Given the description of an element on the screen output the (x, y) to click on. 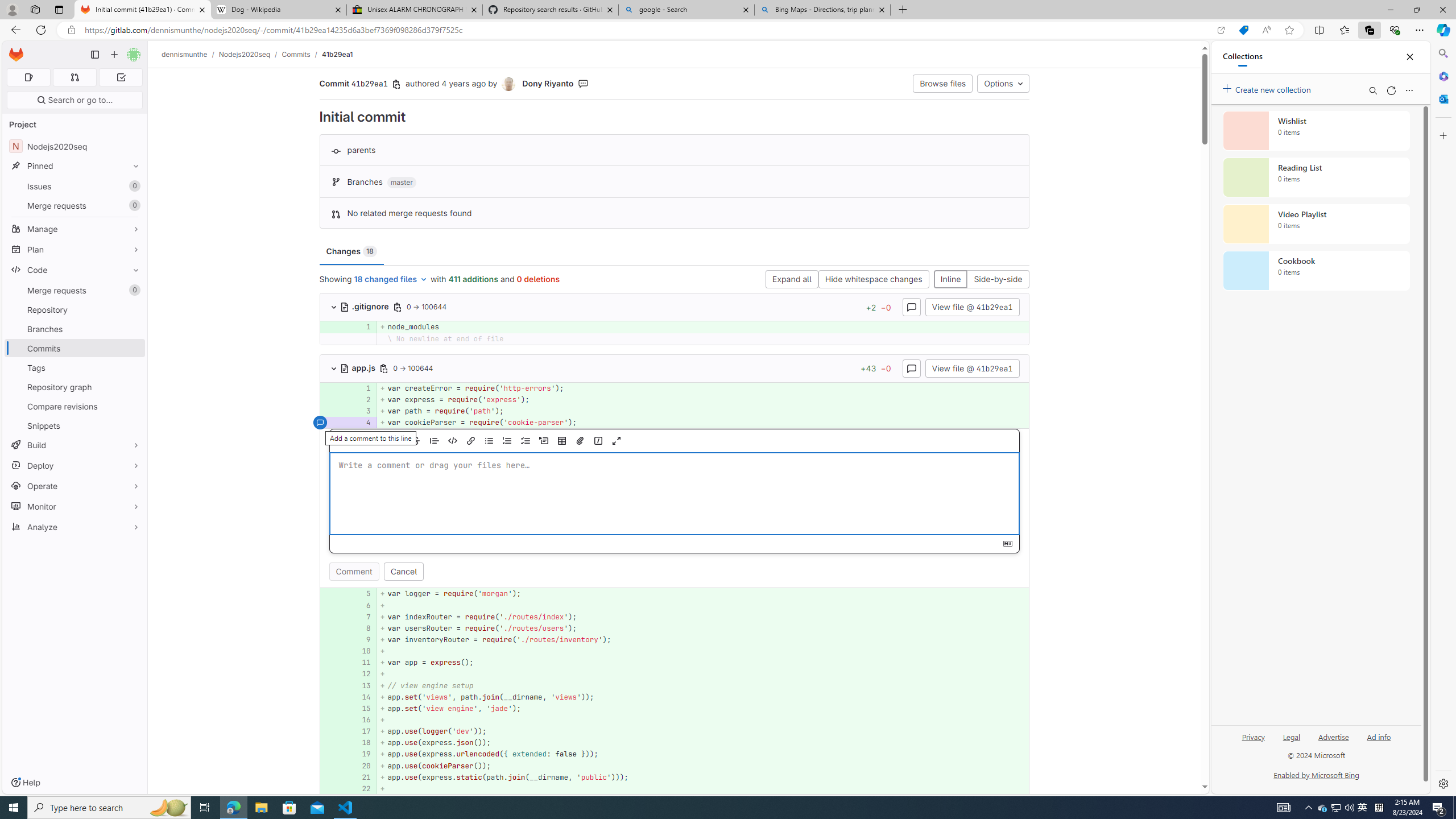
18 changed files (390, 279)
Issues0 (74, 185)
16 (362, 720)
8 (360, 627)
Class: notes_holder js-temp-notes-holder (674, 508)
21 (360, 776)
AutomationID: 4a68969ef8e858229267b842dedf42ab5dde4d50_0_20 (674, 765)
13 (360, 685)
4 (360, 422)
Tags (74, 367)
+ app.use(express.json());  (703, 743)
